Given the description of an element on the screen output the (x, y) to click on. 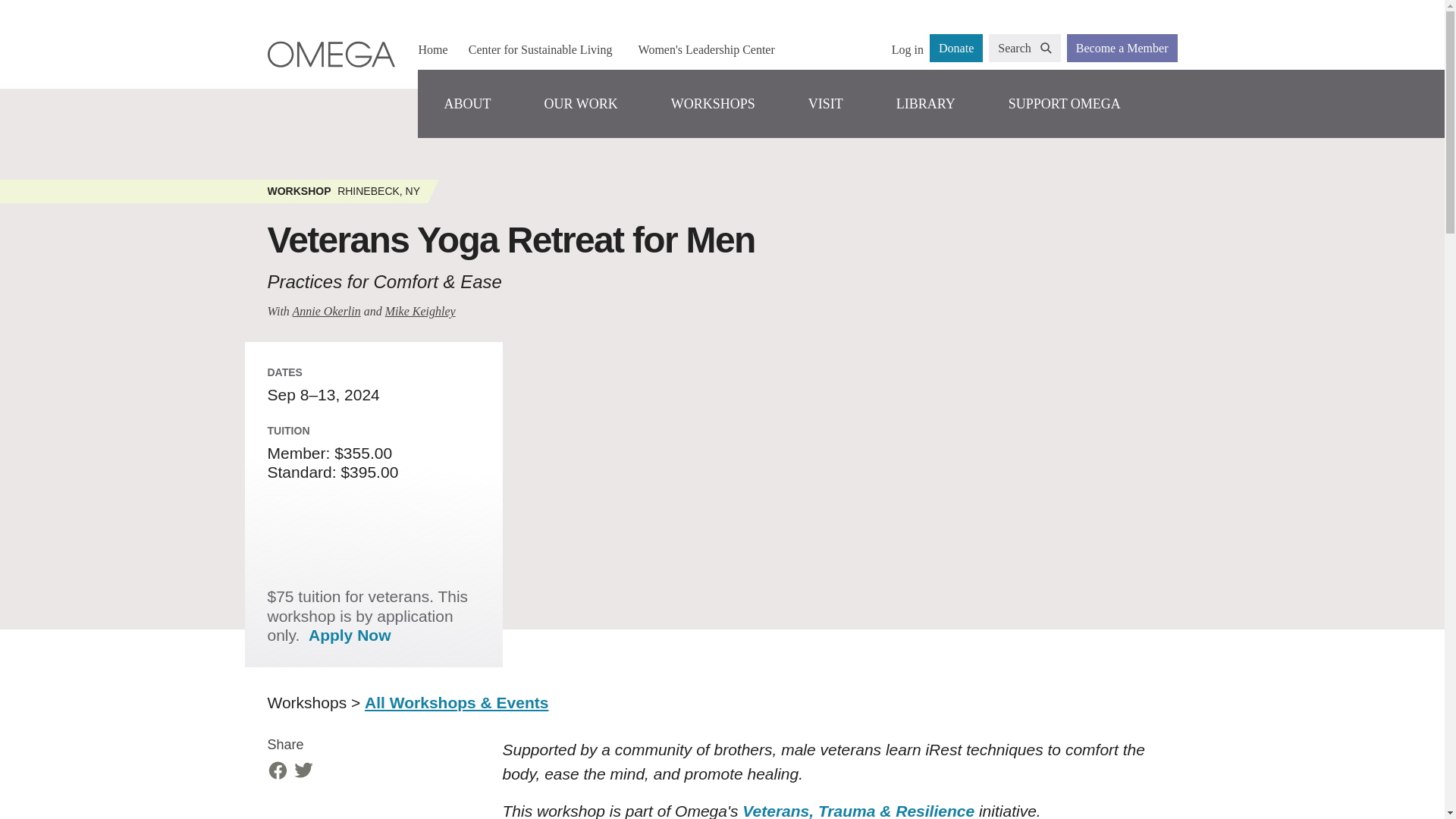
Search (1024, 48)
Center for Sustainable Living (540, 49)
Donate (956, 48)
Log in (907, 49)
Home (432, 49)
Center for Sustainable Living (540, 49)
Home (432, 49)
Women's Leadership Center (705, 49)
Search (1024, 48)
Donate (956, 48)
